Given the description of an element on the screen output the (x, y) to click on. 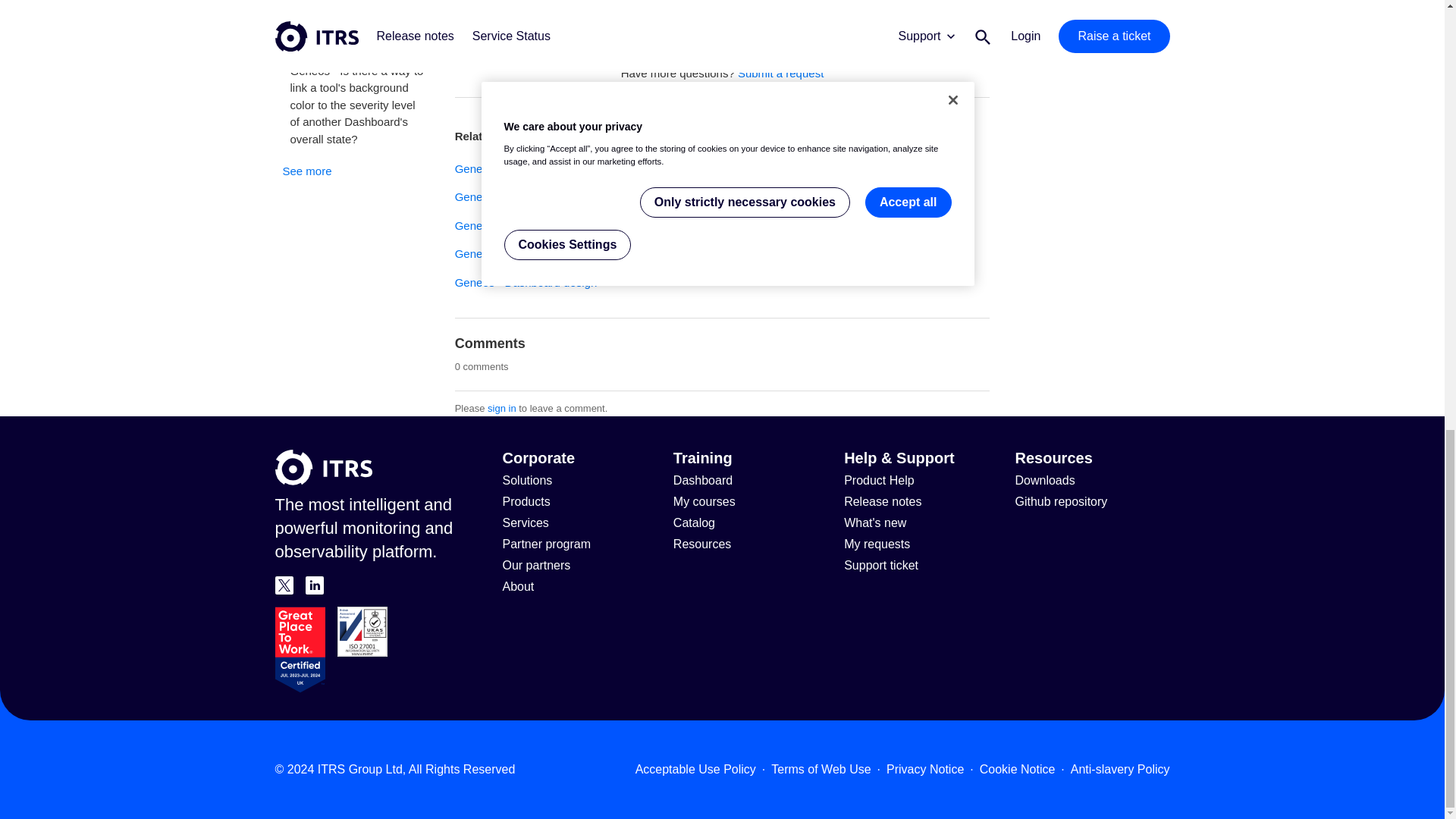
See more (306, 170)
No (762, 4)
Yes (681, 4)
